Given the description of an element on the screen output the (x, y) to click on. 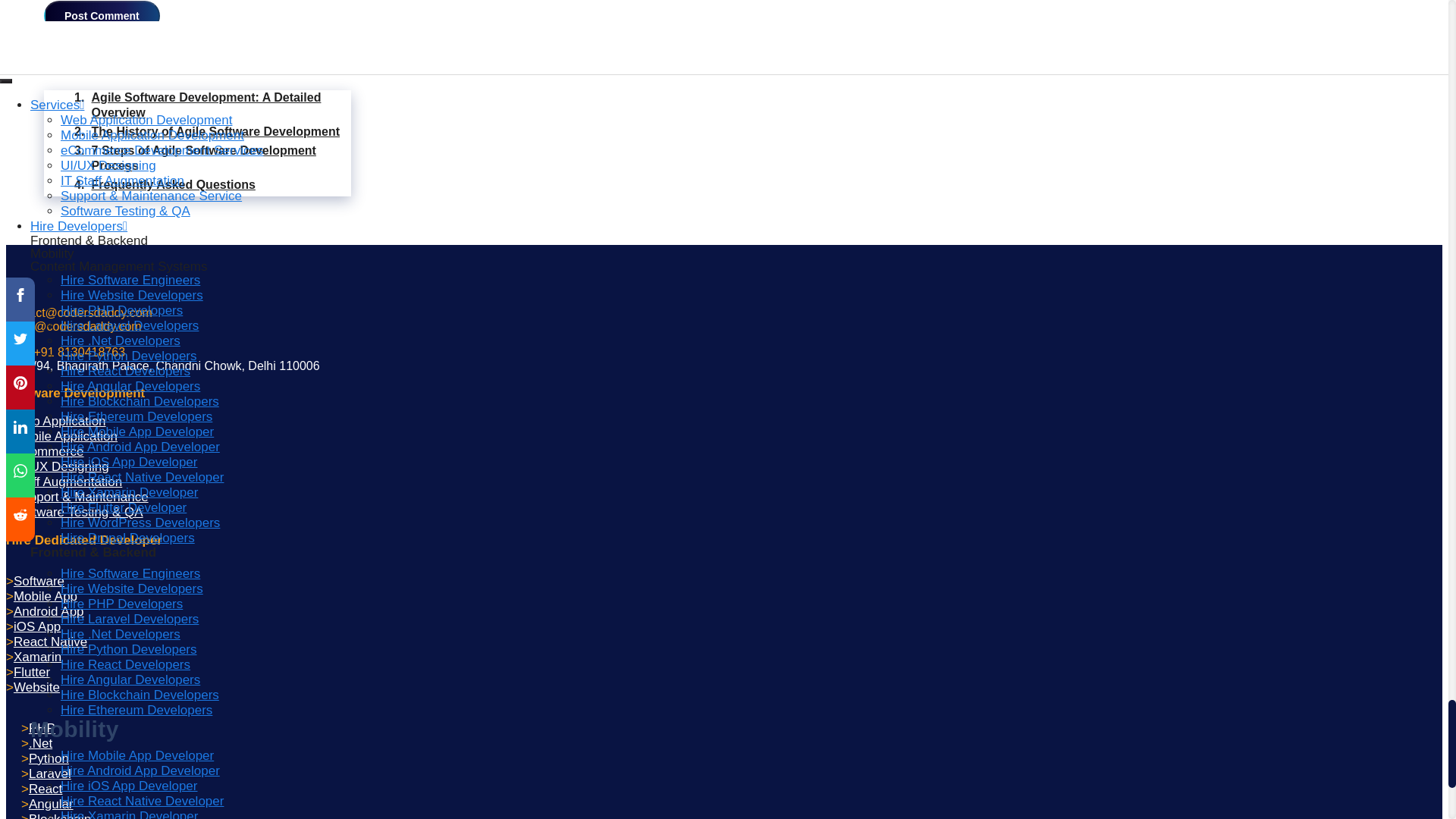
Agile Software Development: A Detailed Overview (212, 105)
The History of Agile Software Development (212, 131)
7 Steps of Agile Software Development Process (212, 158)
Frequently Asked Questions (212, 184)
Post Comment (101, 15)
